Given the description of an element on the screen output the (x, y) to click on. 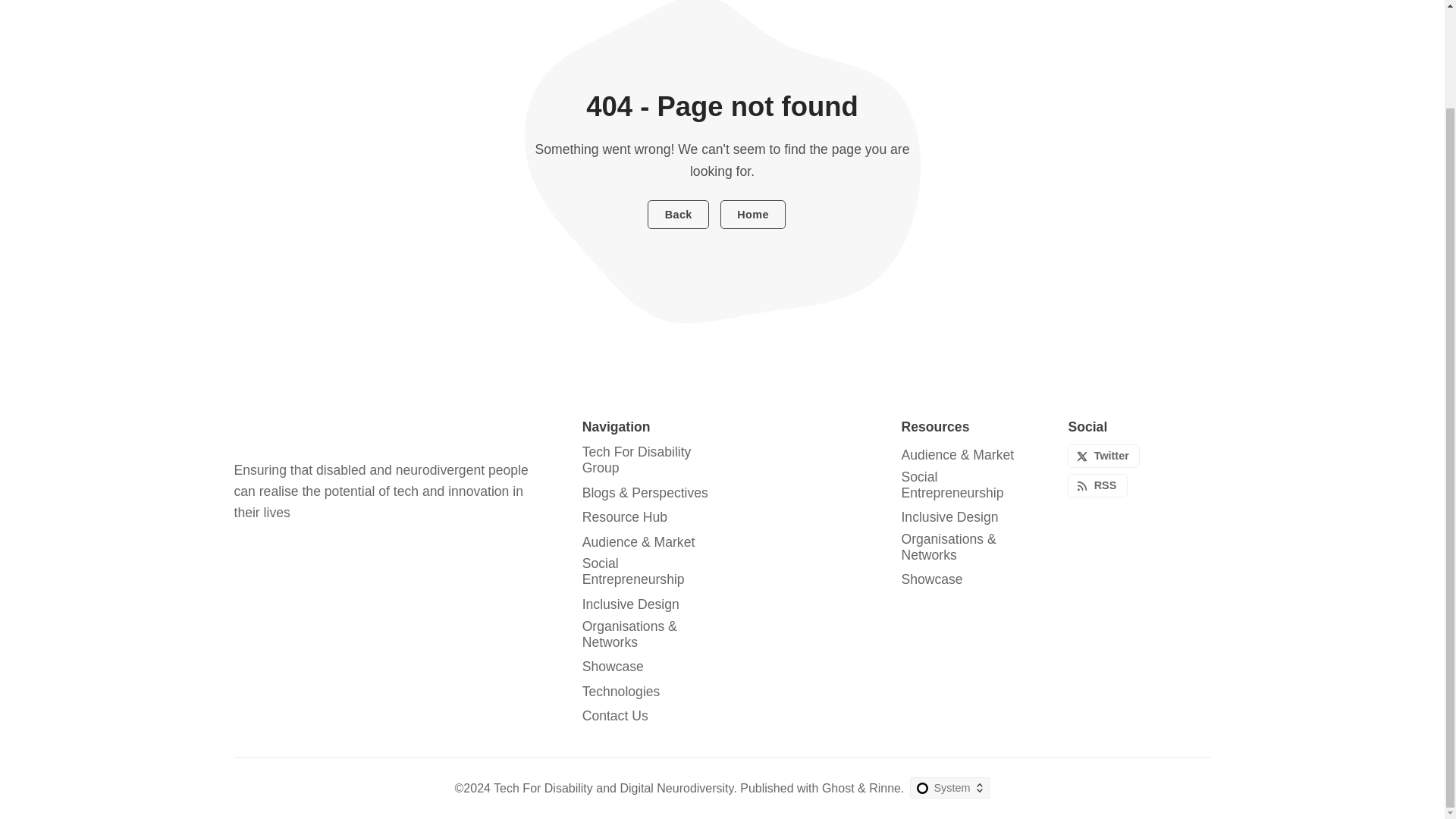
Home (753, 214)
Inclusive Design (630, 604)
Tech For Disability Group (649, 459)
Resource Hub (624, 517)
Showcase (612, 666)
Social Entrepreneurship (649, 572)
Back (678, 214)
